Given the description of an element on the screen output the (x, y) to click on. 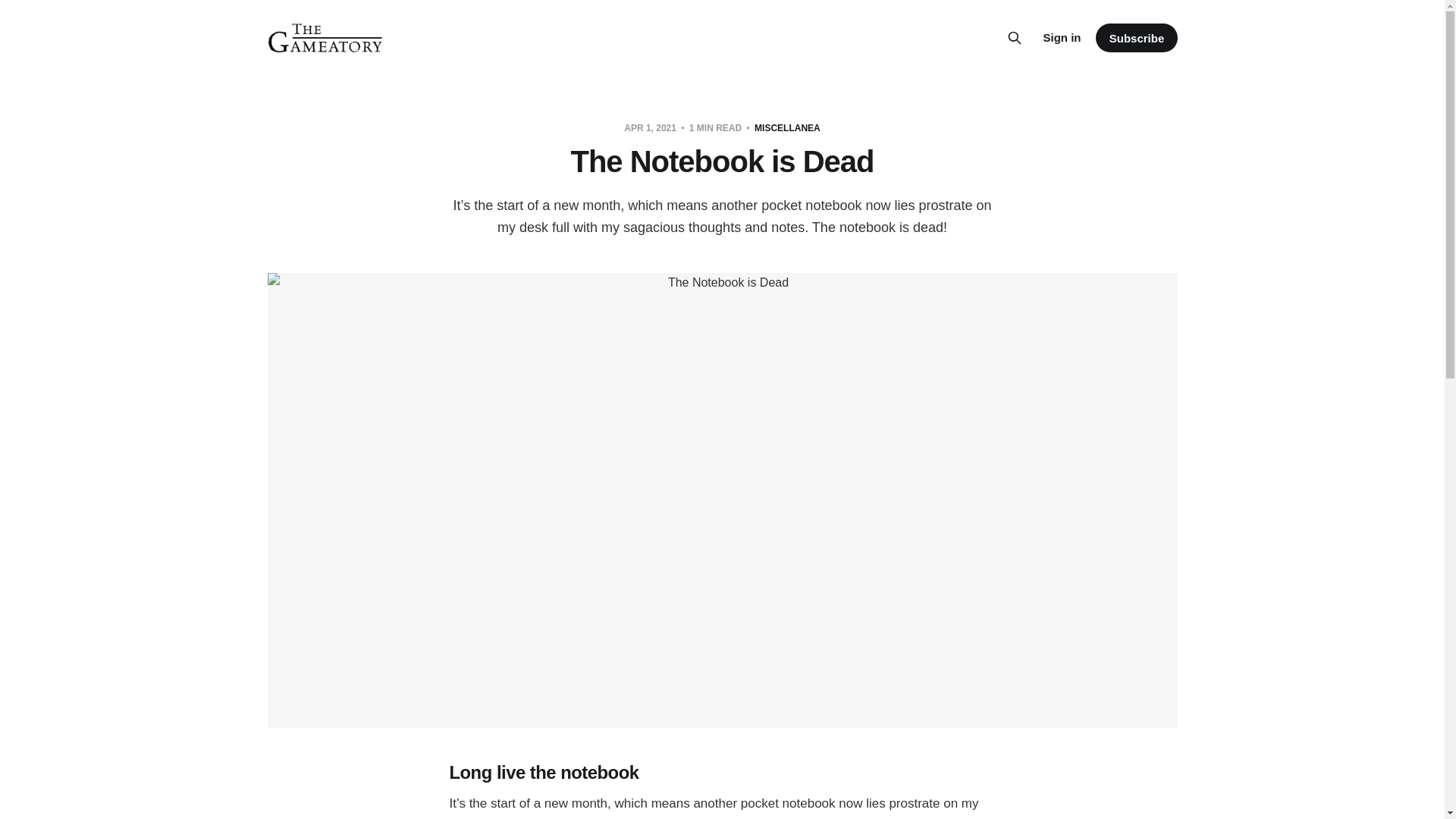
Subscribe (1136, 37)
MISCELLANEA (787, 127)
Sign in (1061, 37)
